Given the description of an element on the screen output the (x, y) to click on. 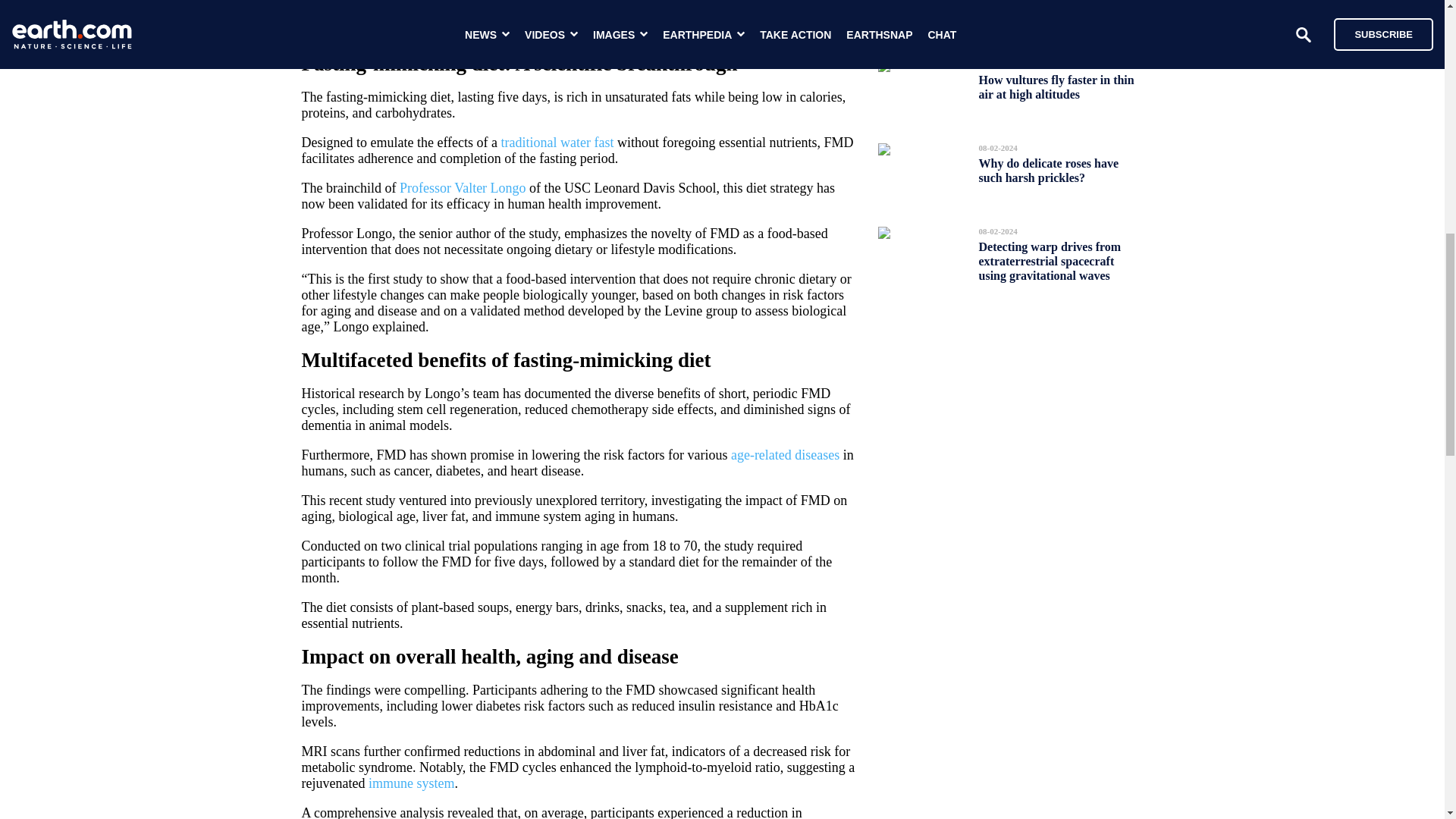
Teens with problematic smartphone use suffer from depression (1049, 19)
immune system (411, 783)
USC Leonard Davis School of Gerontology (537, 14)
Professor Valter Longo (461, 187)
age-related diseases (785, 454)
traditional water fast (557, 142)
